Given the description of an element on the screen output the (x, y) to click on. 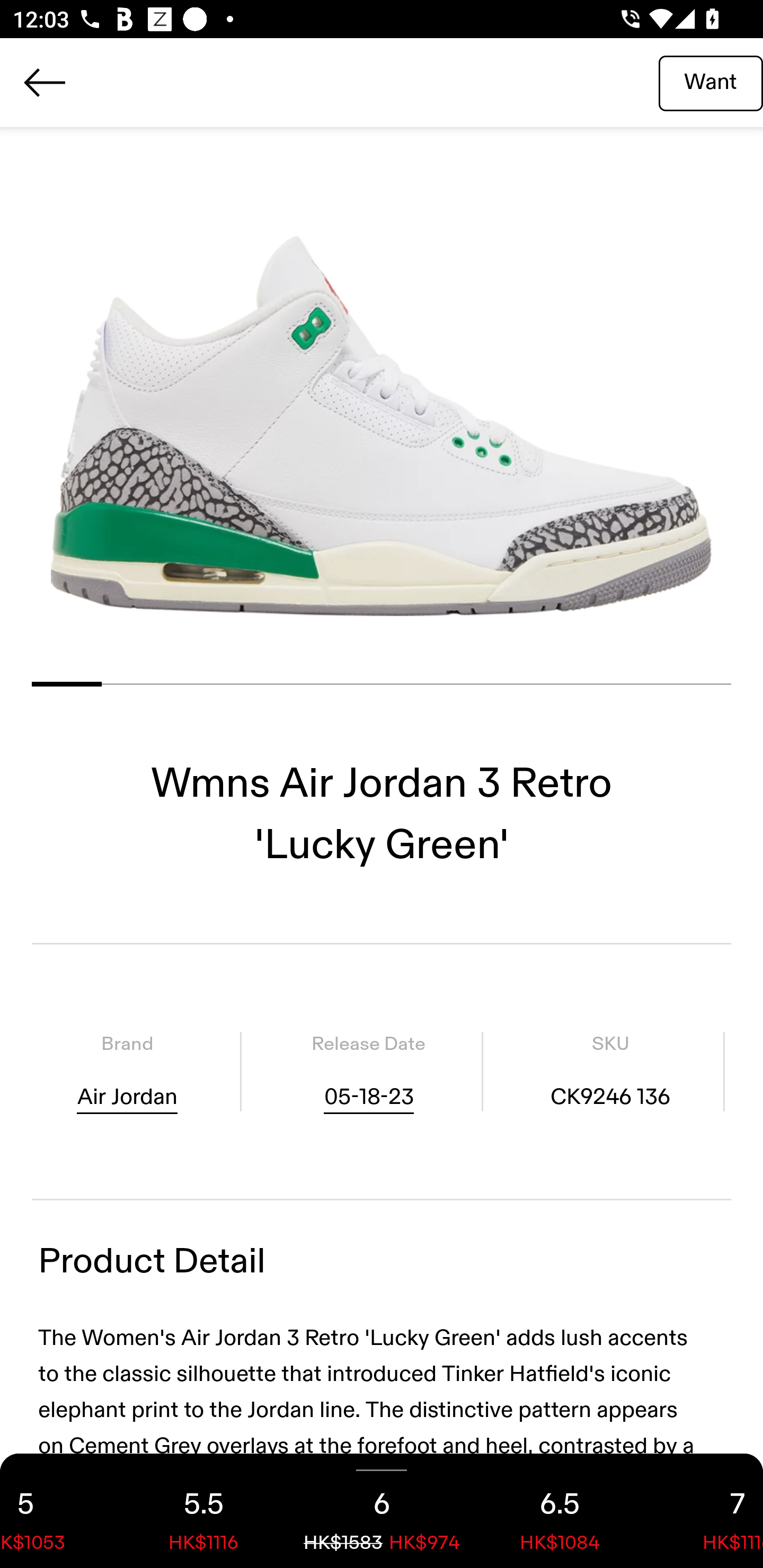
Want (710, 82)
Brand Air Jordan (126, 1070)
Release Date 05-18-23 (368, 1070)
SKU CK9246 136 (609, 1070)
5 HK$1053 (57, 1510)
5.5 HK$1116 (203, 1510)
6 HK$1583 HK$974 (381, 1510)
6.5 HK$1084 (559, 1510)
7 HK$1116 (705, 1510)
